Given the description of an element on the screen output the (x, y) to click on. 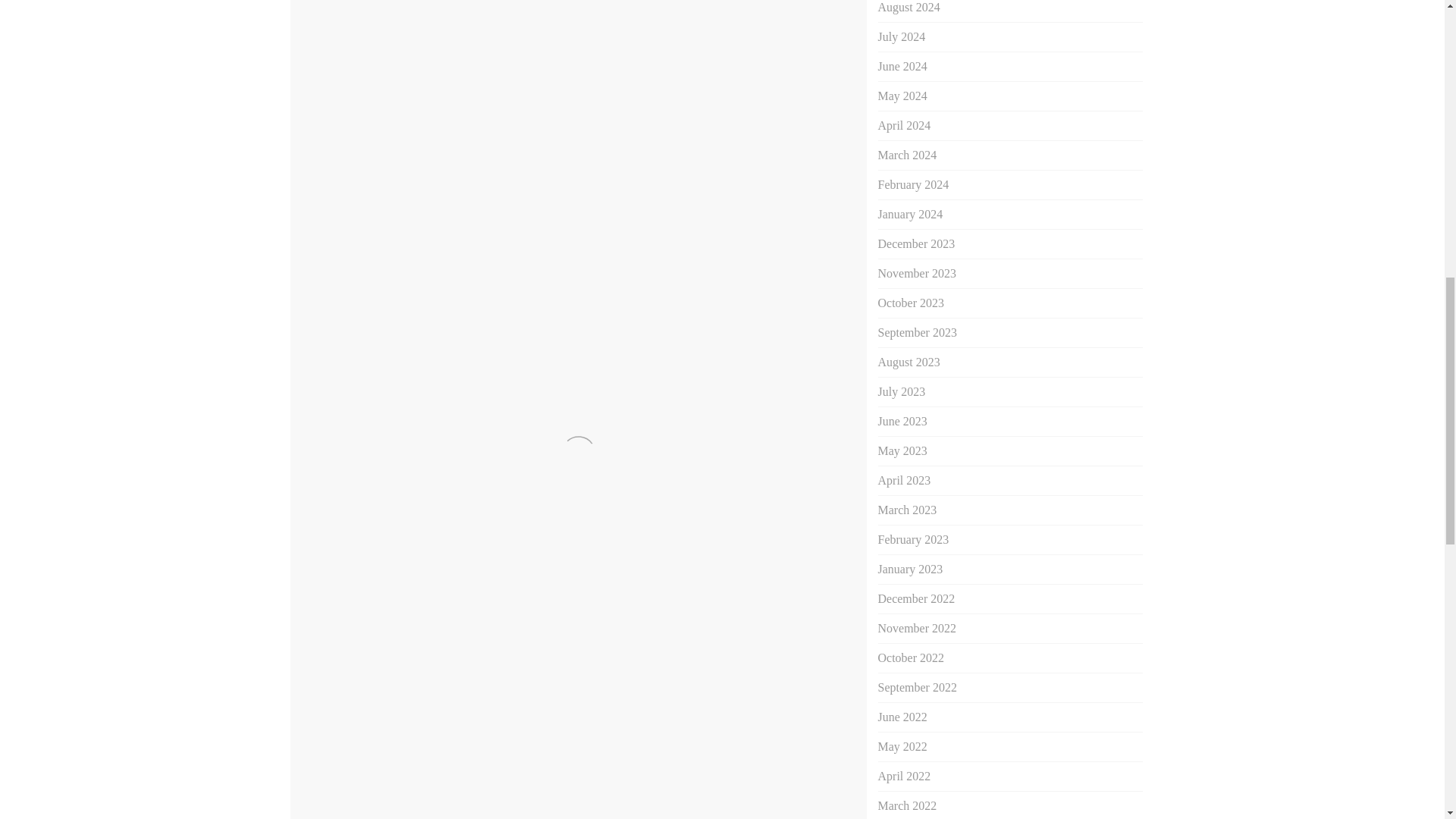
June 2023 (902, 420)
March 2024 (907, 154)
May 2023 (902, 450)
November 2022 (916, 627)
August 2023 (908, 361)
June 2024 (902, 65)
March 2023 (907, 509)
December 2022 (916, 598)
May 2024 (902, 95)
April 2024 (904, 124)
September 2023 (916, 332)
November 2023 (916, 273)
October 2023 (910, 302)
July 2023 (901, 391)
August 2024 (908, 6)
